Given the description of an element on the screen output the (x, y) to click on. 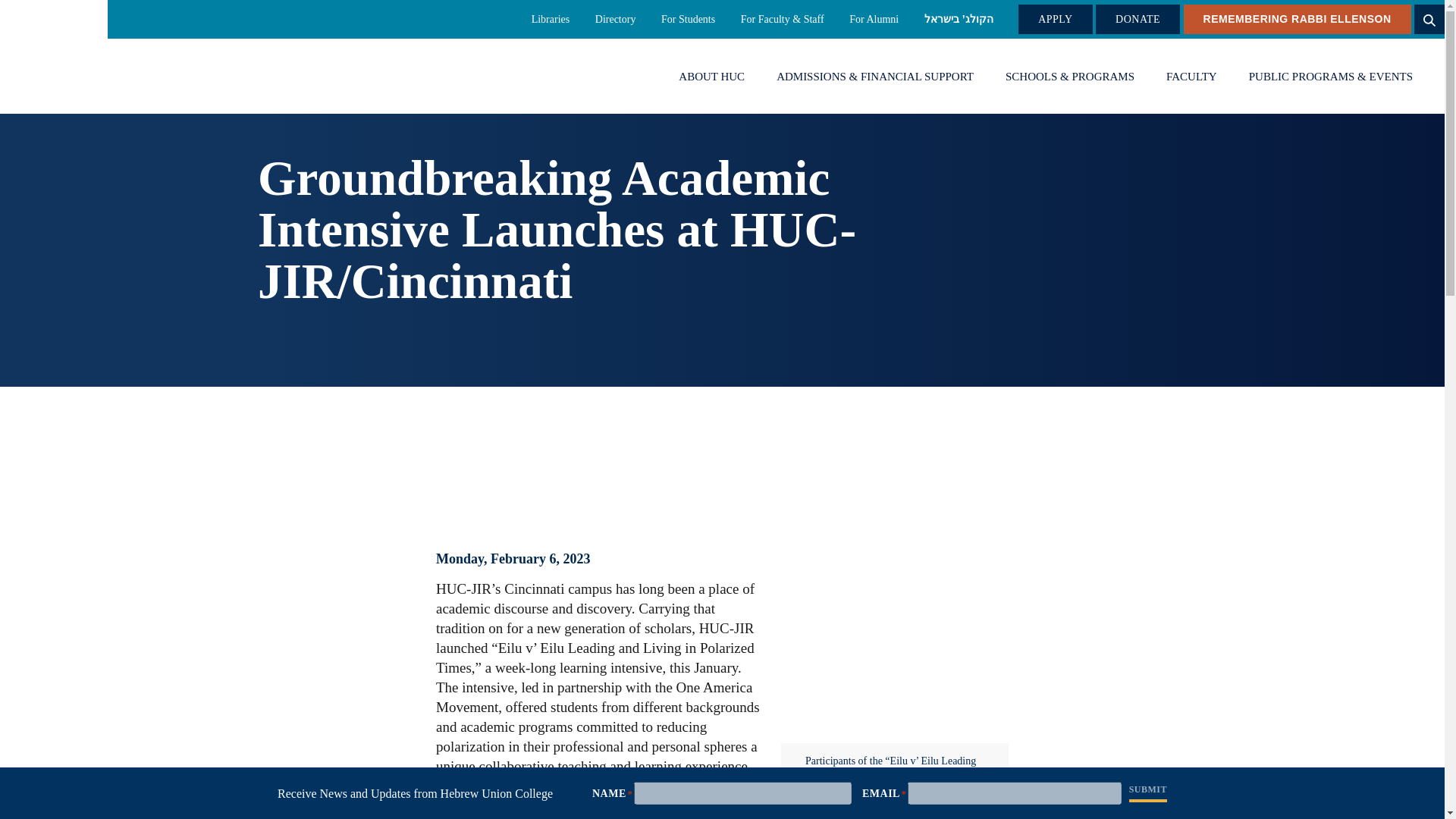
Submit (1148, 790)
Directory (615, 19)
Libraries (550, 19)
APPLY (1054, 19)
REMEMBERING RABBI ELLENSON (1296, 19)
ABOUT HUC (711, 76)
For Alumni (873, 19)
For Students (687, 19)
DONATE (1137, 19)
